Given the description of an element on the screen output the (x, y) to click on. 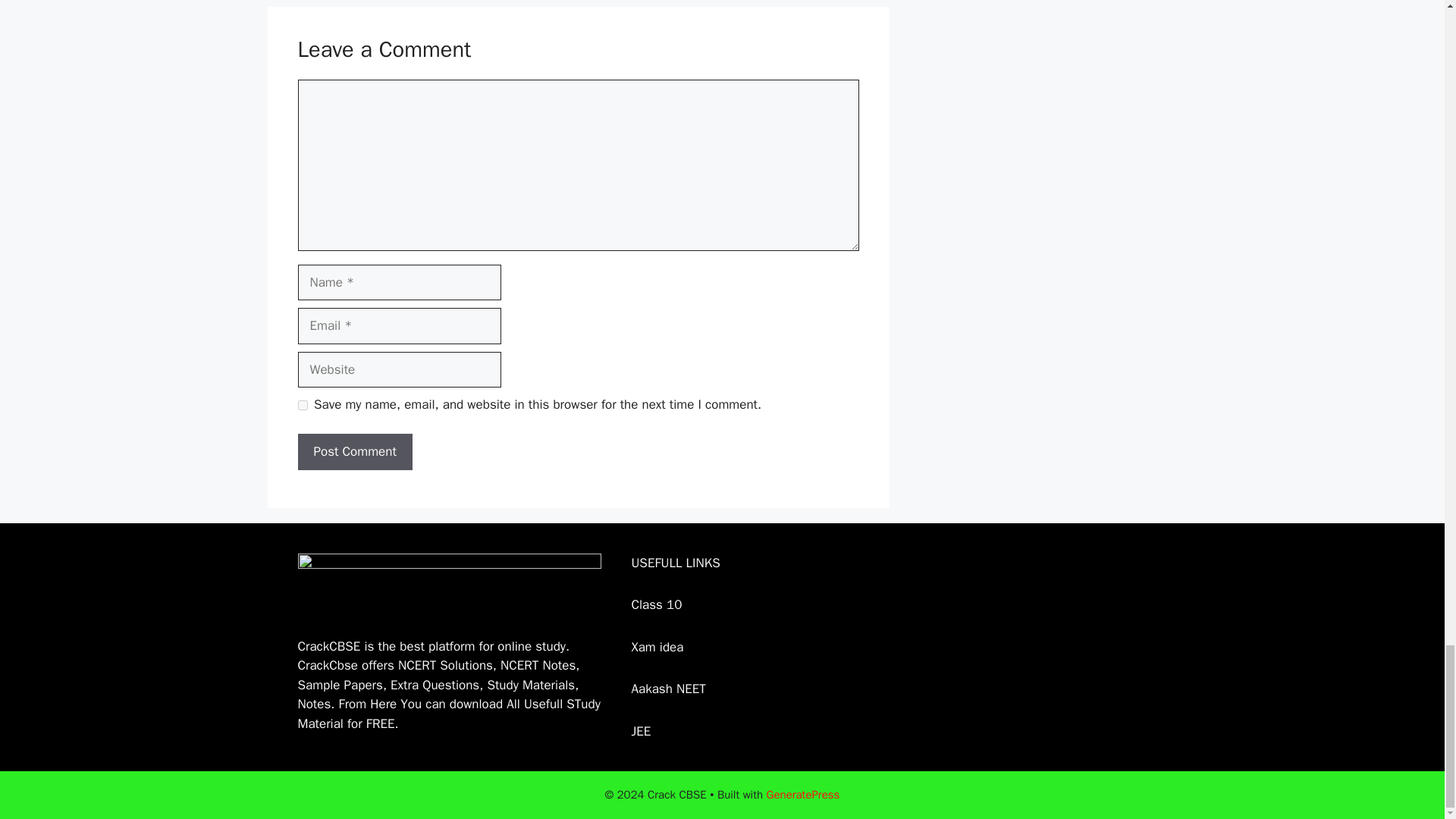
Post Comment (354, 452)
yes (302, 405)
Post Comment (354, 452)
